Given the description of an element on the screen output the (x, y) to click on. 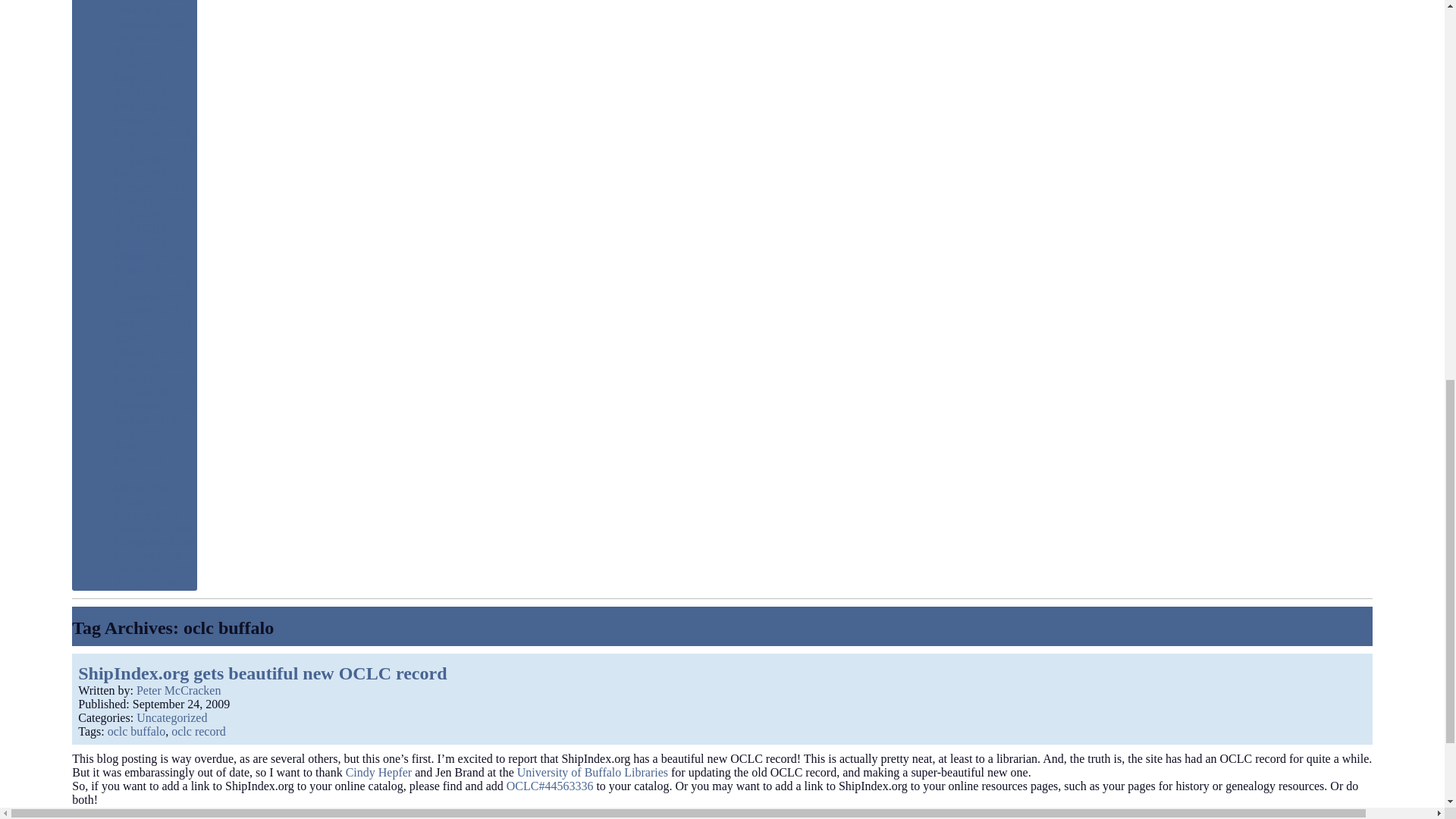
View all posts by Peter McCracken (178, 690)
Permalink to ShipIndex.org gets beautiful new OCLC record (181, 704)
